Given the description of an element on the screen output the (x, y) to click on. 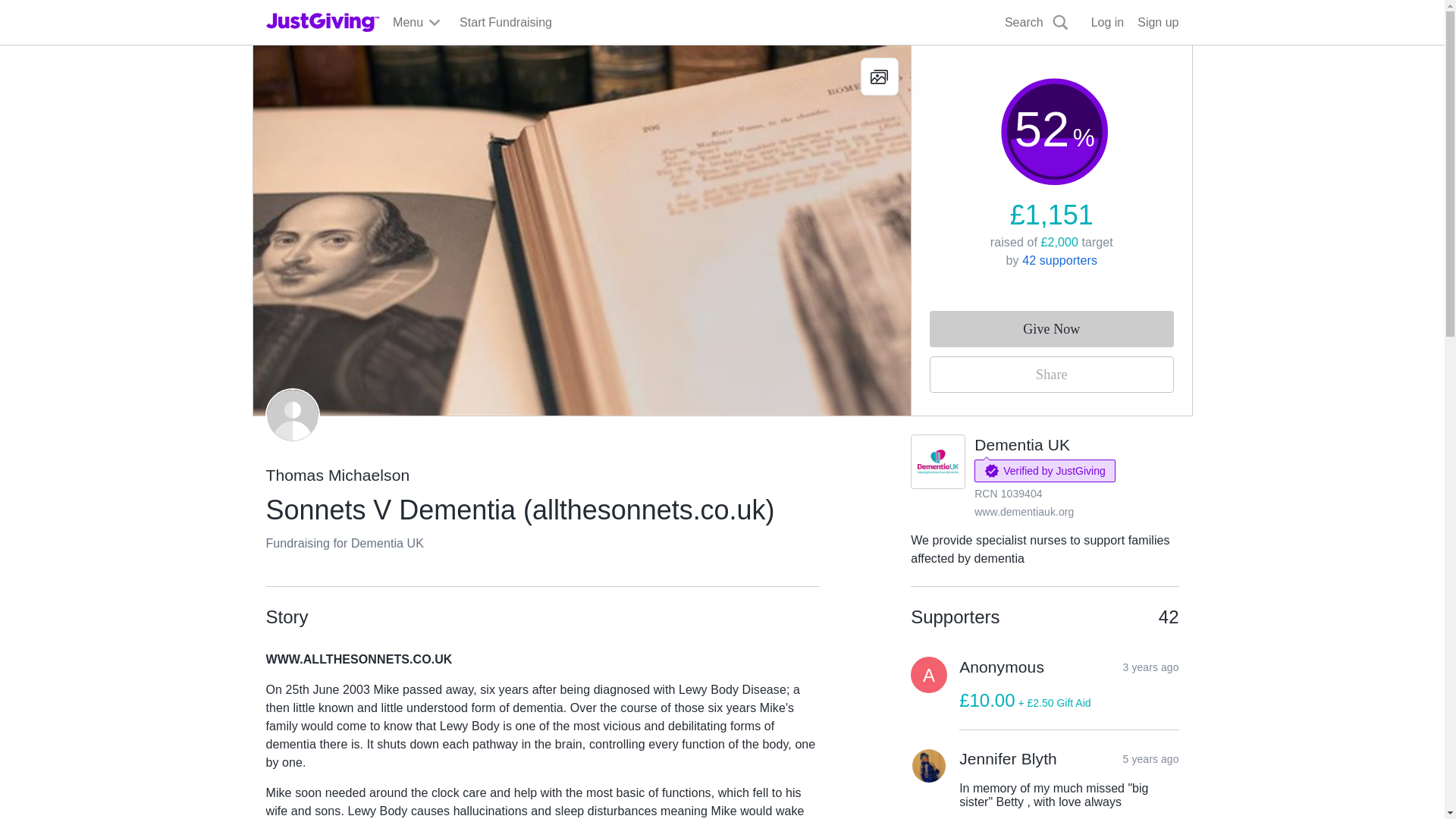
42 supporters (1059, 259)
Sign up (1157, 22)
Start Fundraising (505, 22)
www.dementiauk.org (1024, 511)
Log in (1107, 22)
Search (1036, 22)
Share (1051, 374)
A (929, 674)
Dementia UK (1022, 444)
Search (919, 57)
